Given the description of an element on the screen output the (x, y) to click on. 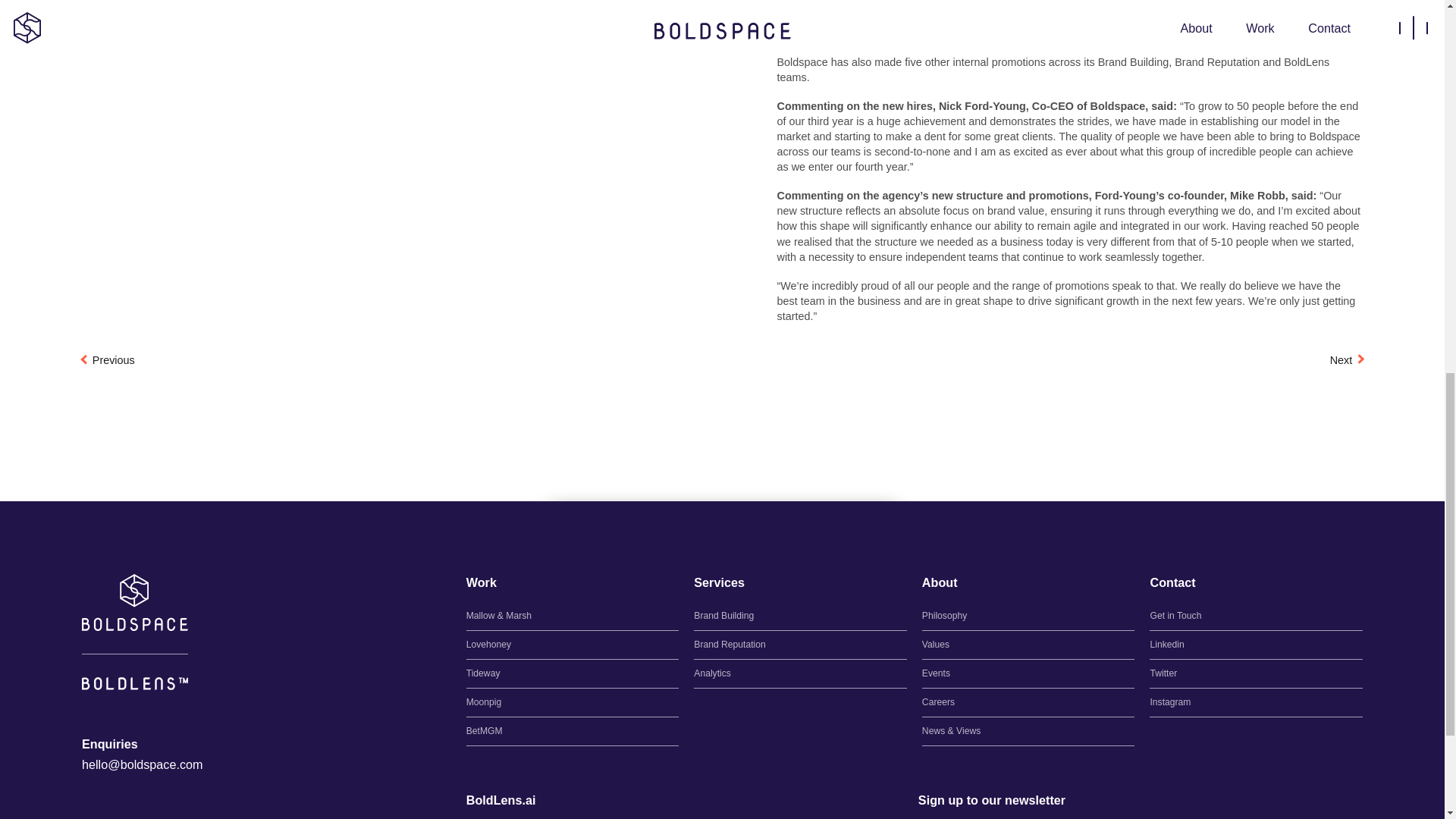
Next (1346, 359)
Work (480, 582)
Brand Reputation (800, 644)
Services (719, 582)
Tideway (572, 673)
Previous (108, 359)
Lovehoney (572, 644)
Brand Building (800, 615)
BetMGM (572, 731)
Moonpig (572, 702)
